Given the description of an element on the screen output the (x, y) to click on. 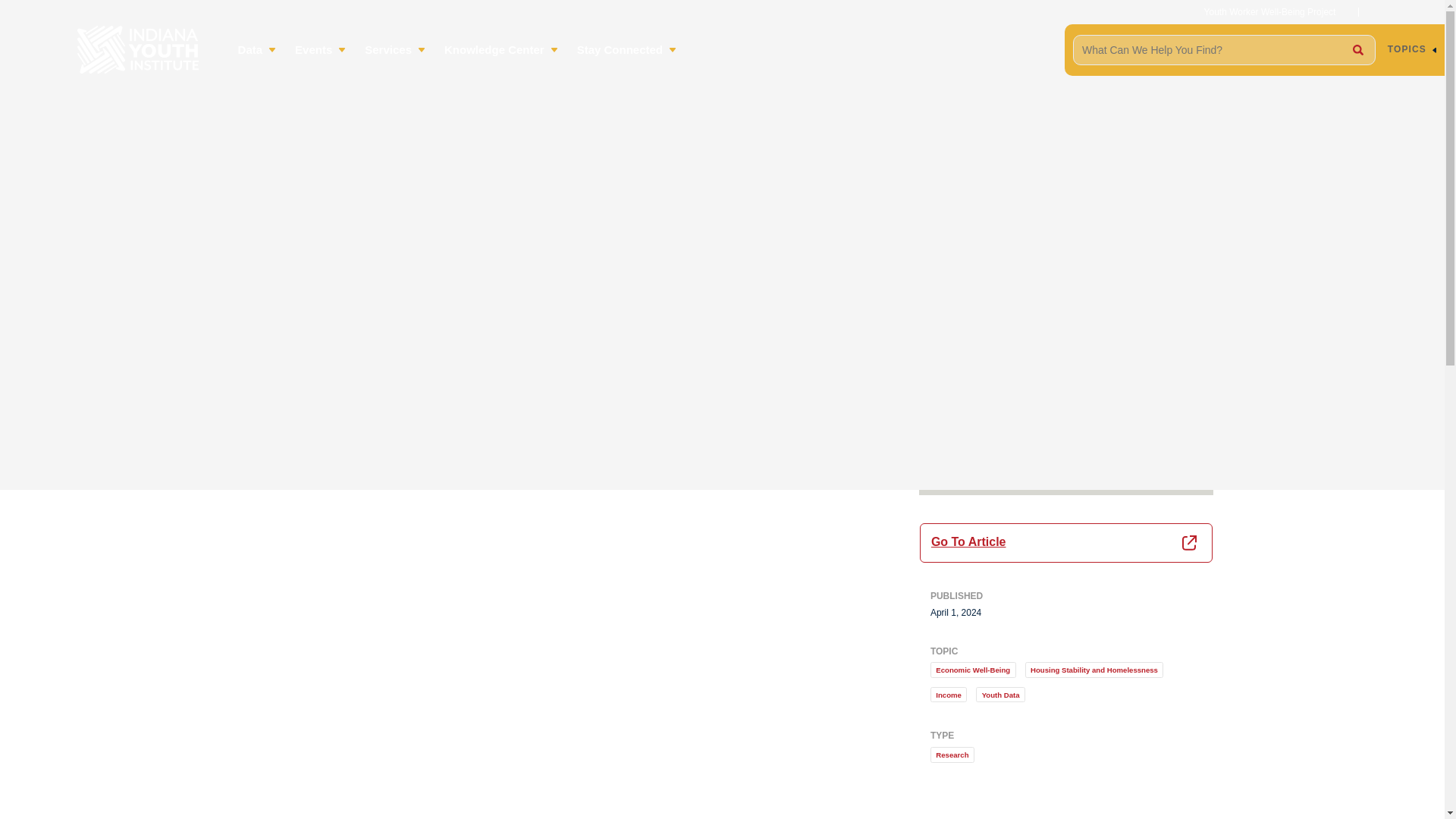
Knowledge Center (502, 49)
Data (259, 49)
Youth Worker Well-Being Project (1270, 11)
Events (321, 49)
Stay Connected (628, 49)
Services (396, 49)
